Given the description of an element on the screen output the (x, y) to click on. 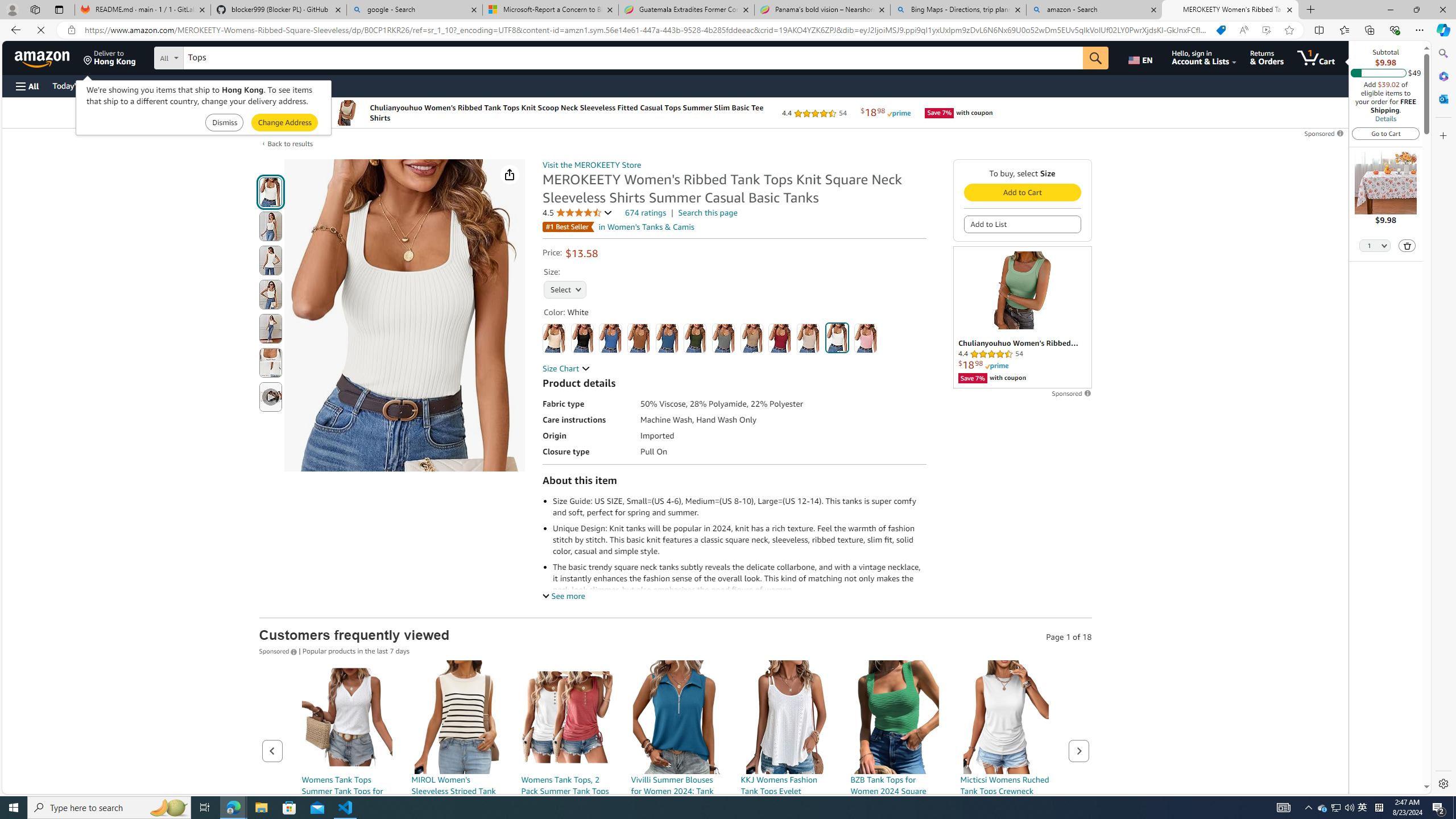
Search Amazon (633, 57)
Sand (808, 338)
Beige (553, 338)
Dusty Blue (666, 338)
Green (695, 338)
4.5 4.5 out of 5 stars (577, 212)
Delete (1407, 245)
